Given the description of an element on the screen output the (x, y) to click on. 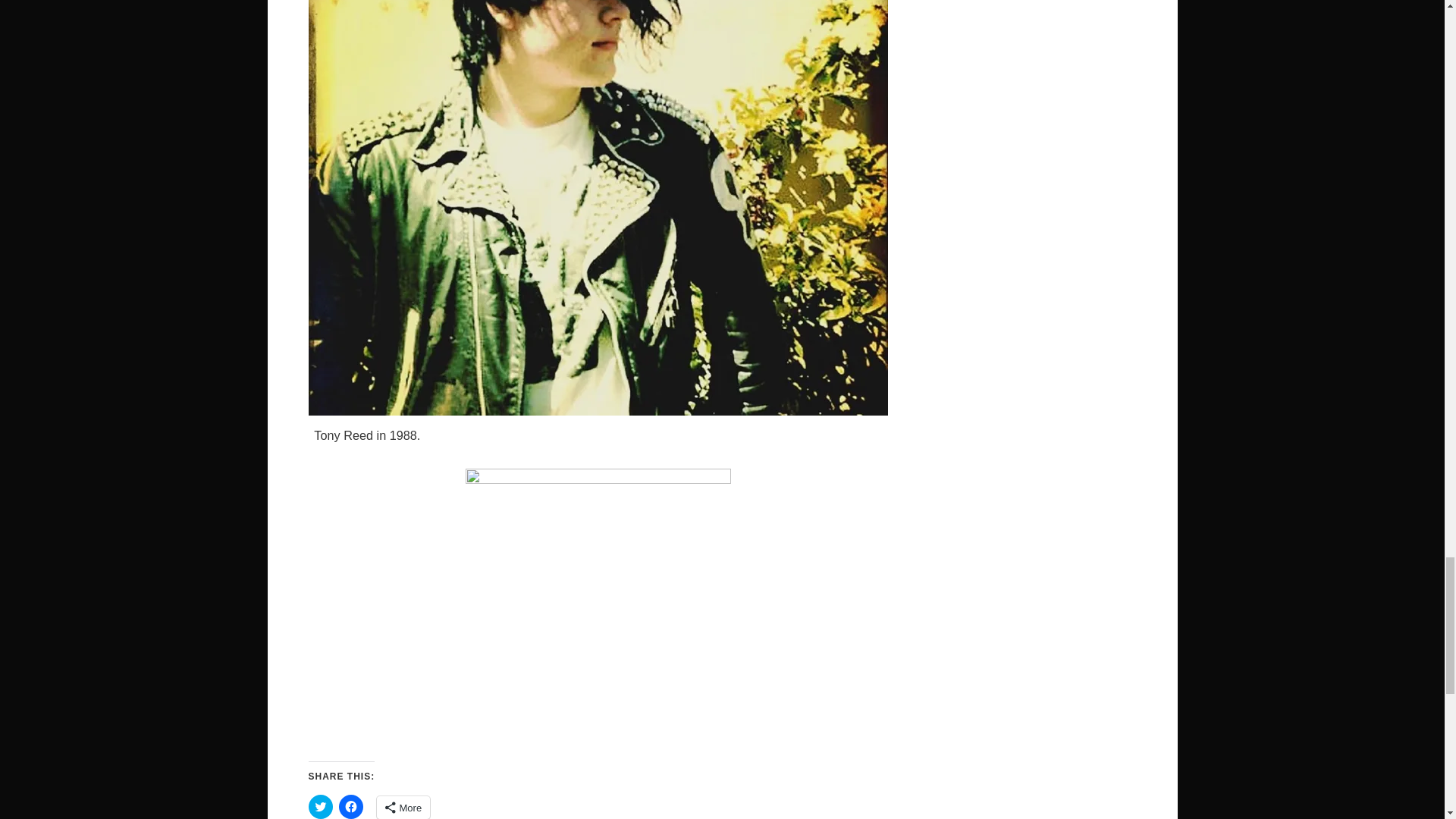
Click to share on Facebook (349, 806)
Click to share on Twitter (319, 806)
More (402, 807)
